Given the description of an element on the screen output the (x, y) to click on. 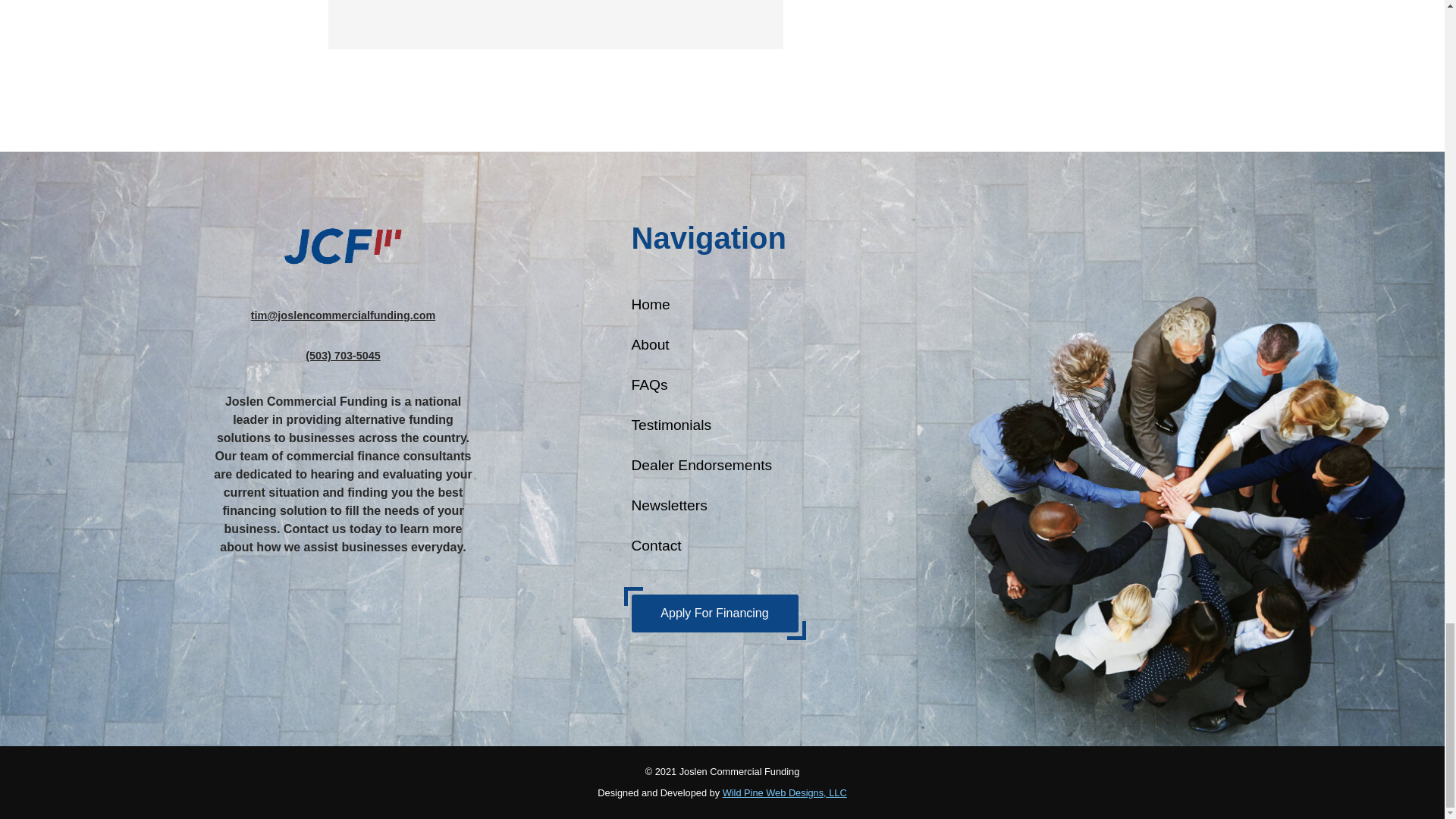
Wild Pine Web Designs, LLC (784, 792)
Contact (713, 545)
Testimonials (713, 424)
Newsletters (713, 505)
Dealer Endorsements (713, 465)
Home (713, 304)
About (713, 344)
Apply For Financing (713, 613)
FAQs (713, 384)
